Given the description of an element on the screen output the (x, y) to click on. 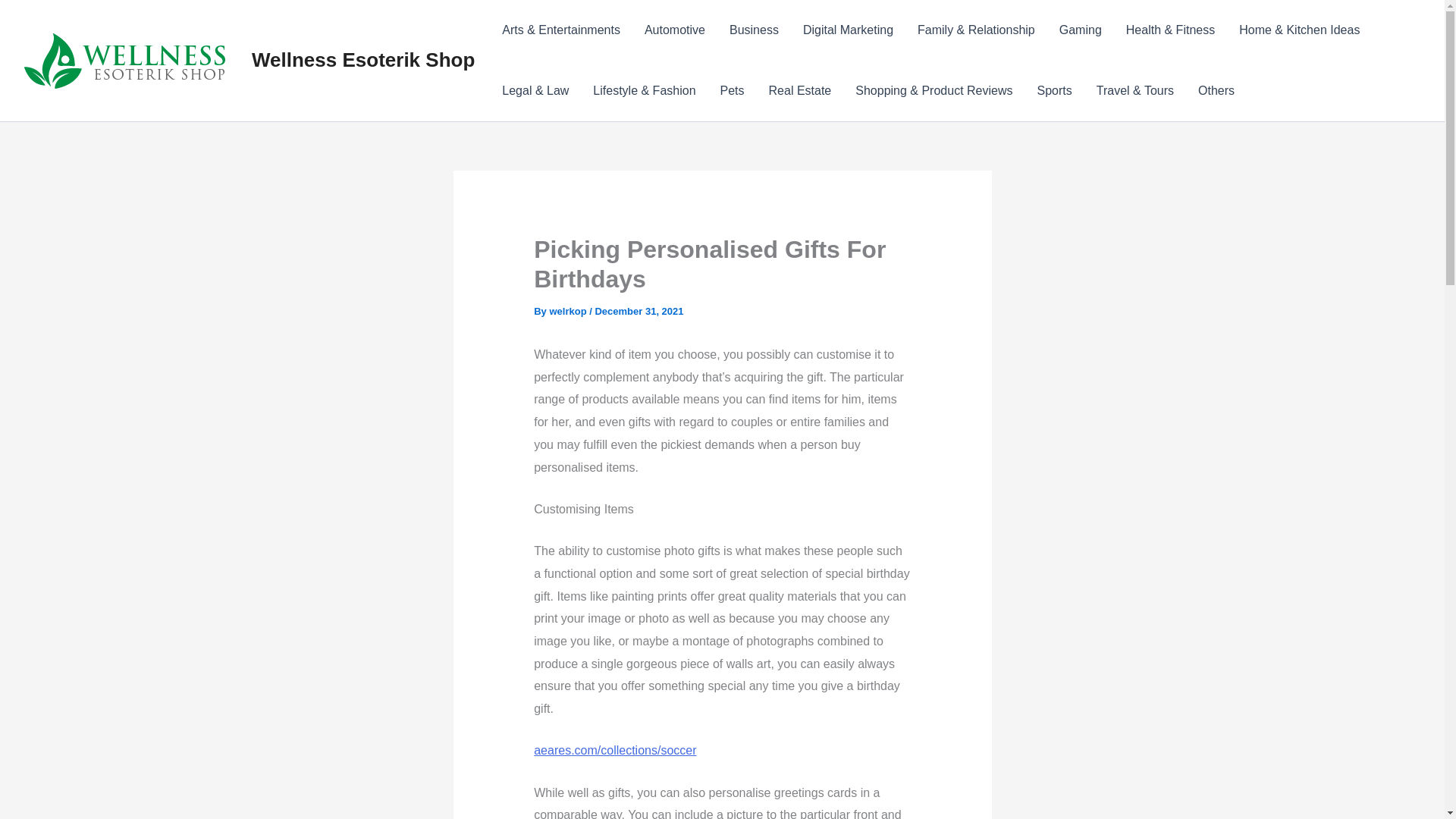
Wellness Esoterik Shop (362, 59)
welrkop (568, 310)
Sports (1054, 90)
View all posts by welrkop (568, 310)
Gaming (1079, 30)
Business (753, 30)
Automotive (674, 30)
Others (1216, 90)
Digital Marketing (847, 30)
Real Estate (800, 90)
